Given the description of an element on the screen output the (x, y) to click on. 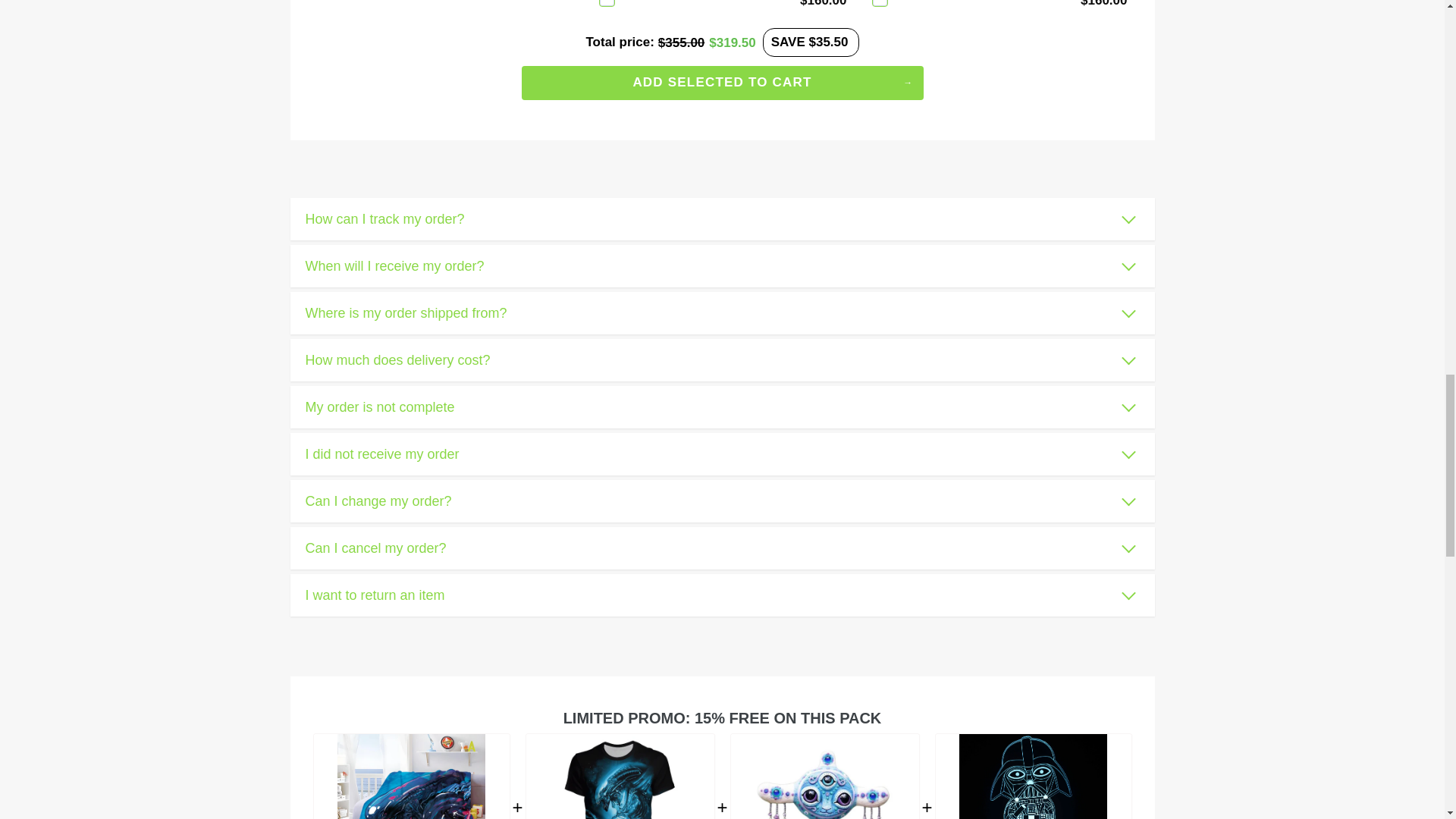
on (880, 3)
on (606, 3)
